Given the description of an element on the screen output the (x, y) to click on. 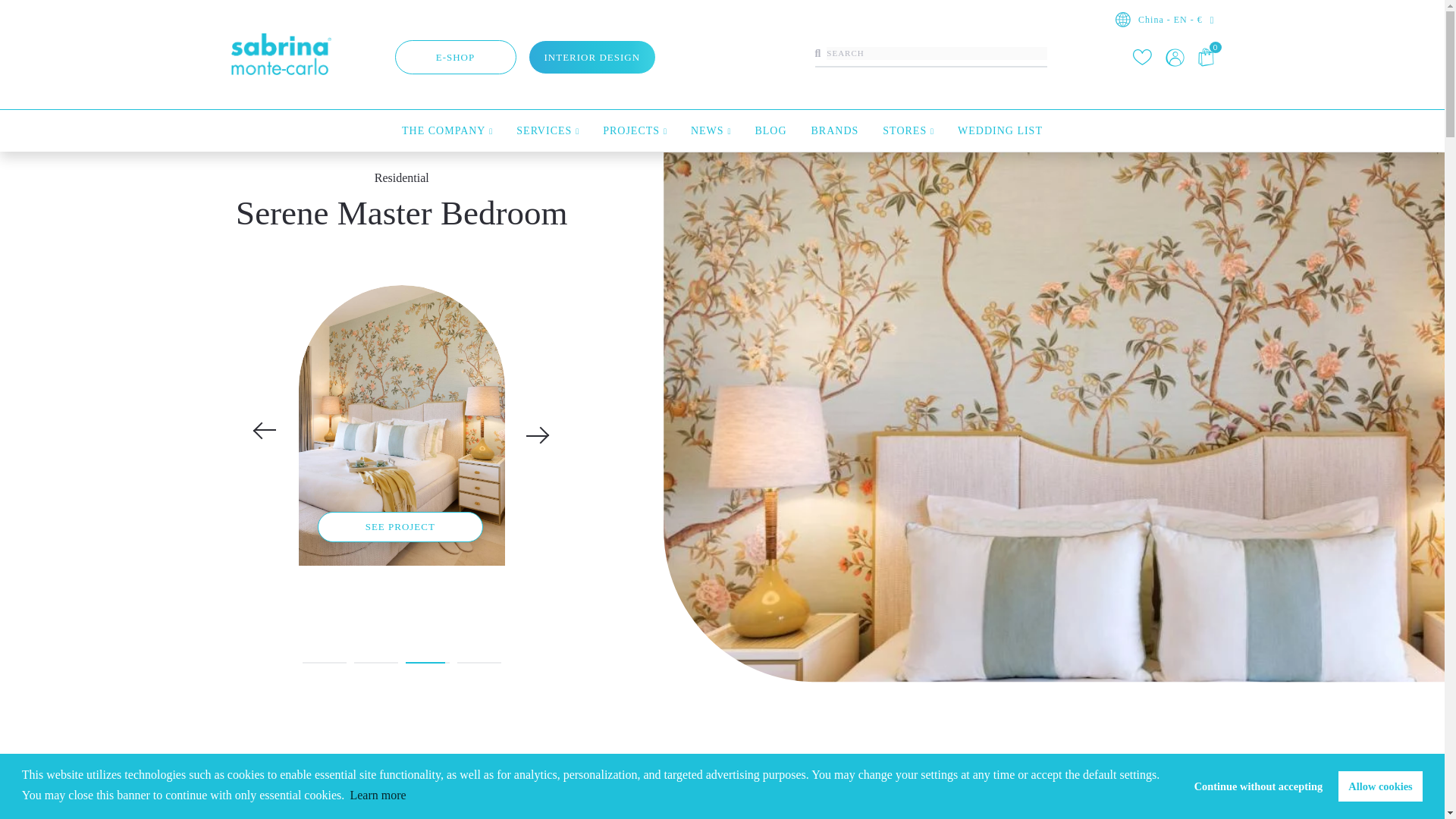
INTERIOR DESIGN (591, 57)
0 (1206, 56)
E-SHOP (454, 57)
